Given the description of an element on the screen output the (x, y) to click on. 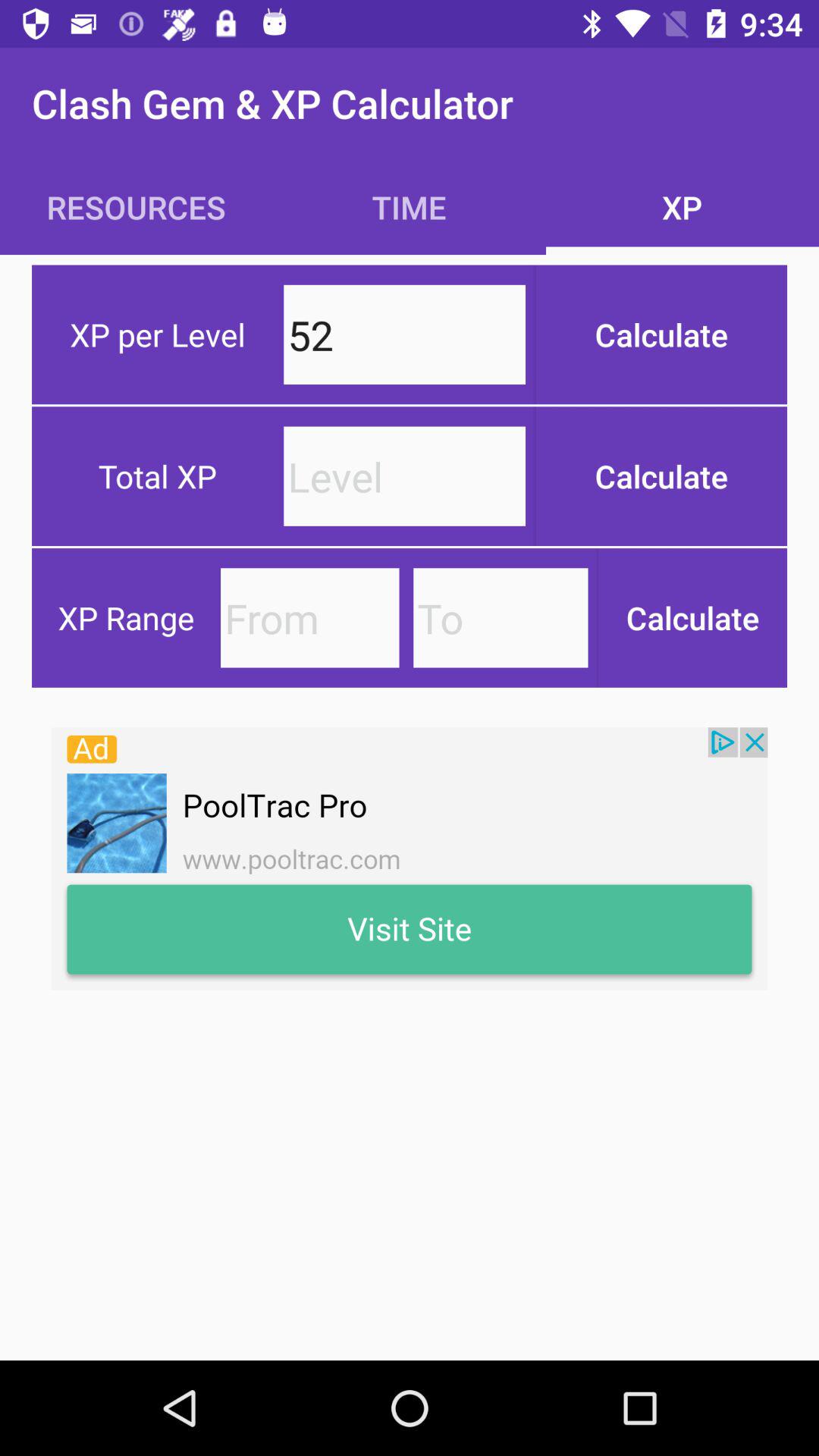
click to to option (500, 617)
